Given the description of an element on the screen output the (x, y) to click on. 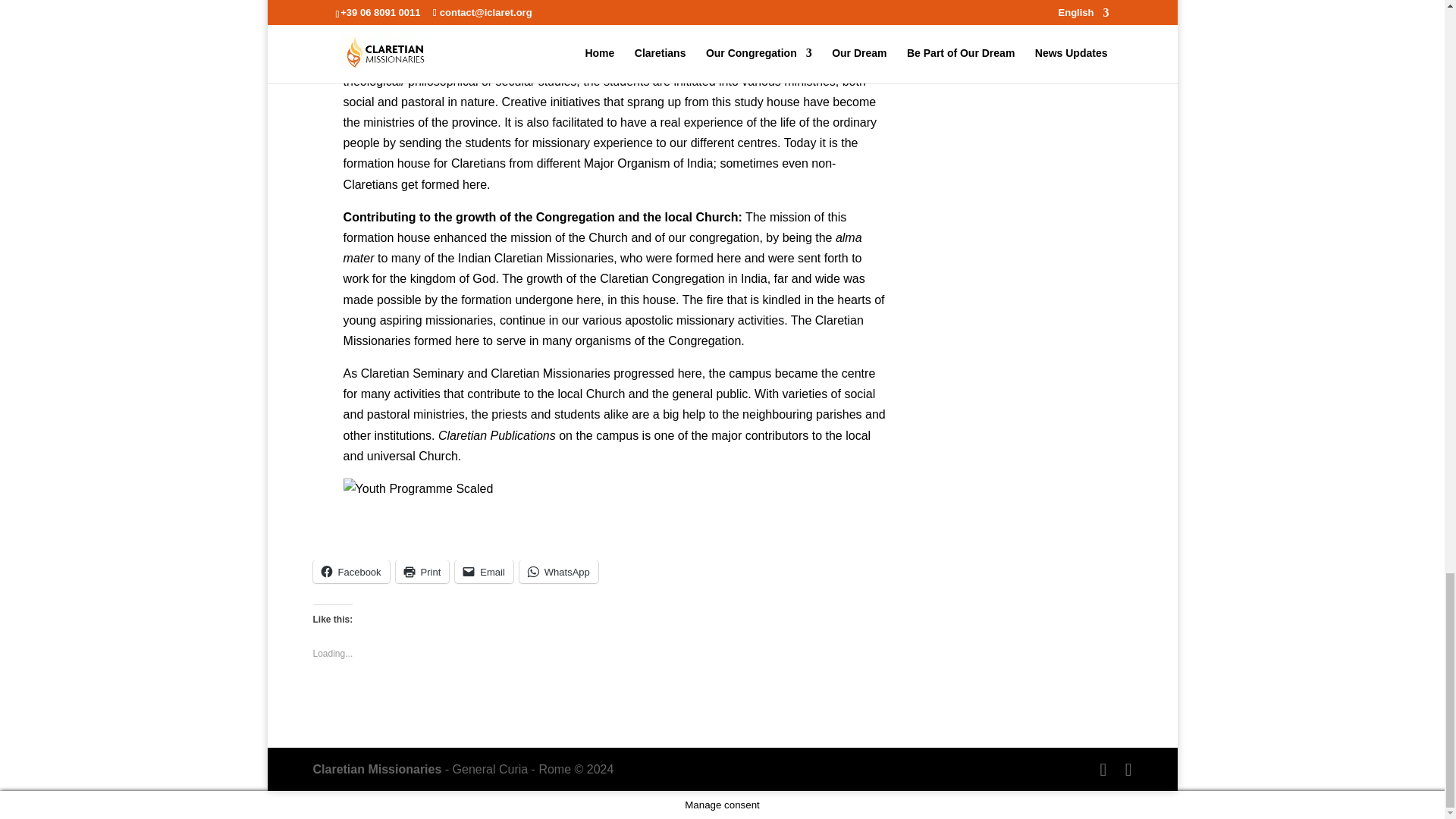
Email (483, 571)
WhatsApp (558, 571)
Facebook (350, 571)
Print (422, 571)
